Given the description of an element on the screen output the (x, y) to click on. 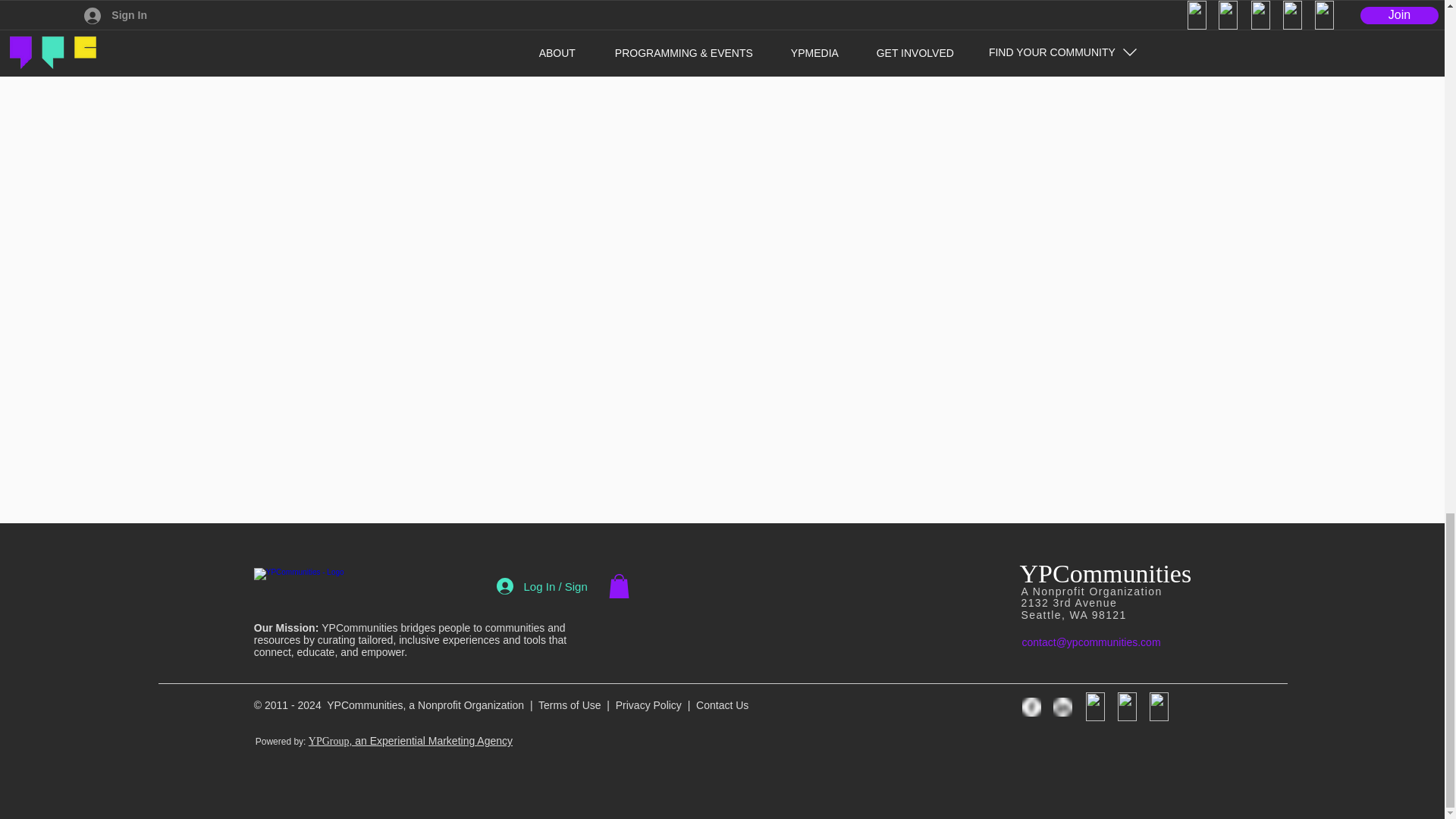
YPGroup, an Experiential Marketing Agency (410, 740)
Privacy Policy (648, 705)
Contact Us (721, 705)
Terms of Use (568, 705)
